Given the description of an element on the screen output the (x, y) to click on. 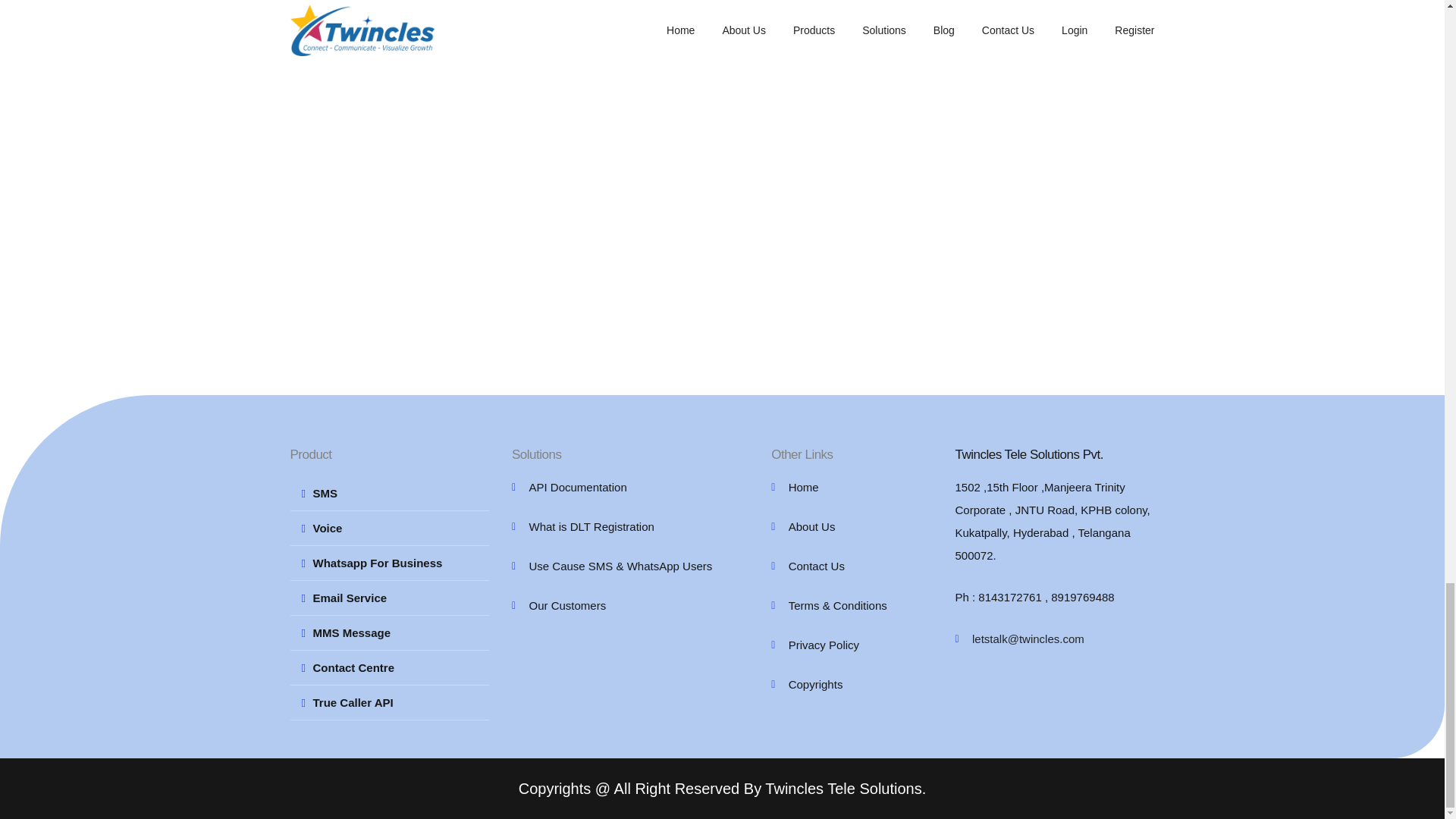
Voice (327, 527)
SMS (325, 492)
Whatsapp For Business (377, 562)
Email Service (350, 597)
